Given the description of an element on the screen output the (x, y) to click on. 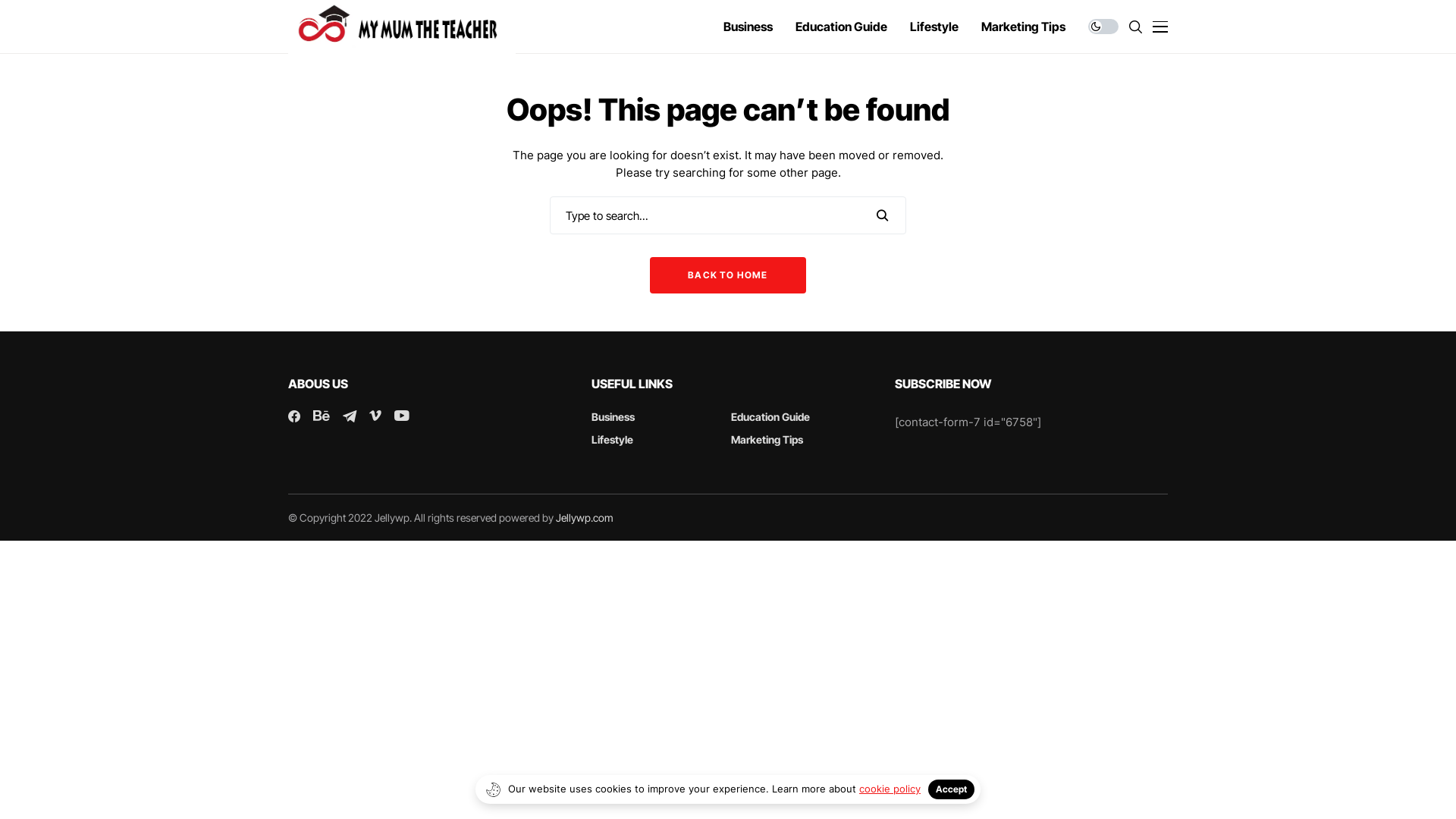
Jellywp.com Element type: text (584, 517)
Lifestyle Element type: text (934, 26)
cookie policy Element type: text (889, 788)
Accept Element type: text (951, 789)
Marketing Tips Element type: text (767, 439)
BACK TO HOME Element type: text (727, 275)
Education Guide Element type: text (841, 26)
Marketing Tips Element type: text (1023, 26)
Business Element type: text (612, 416)
Business Element type: text (747, 26)
Lifestyle Element type: text (612, 439)
Education Guide Element type: text (770, 416)
